Given the description of an element on the screen output the (x, y) to click on. 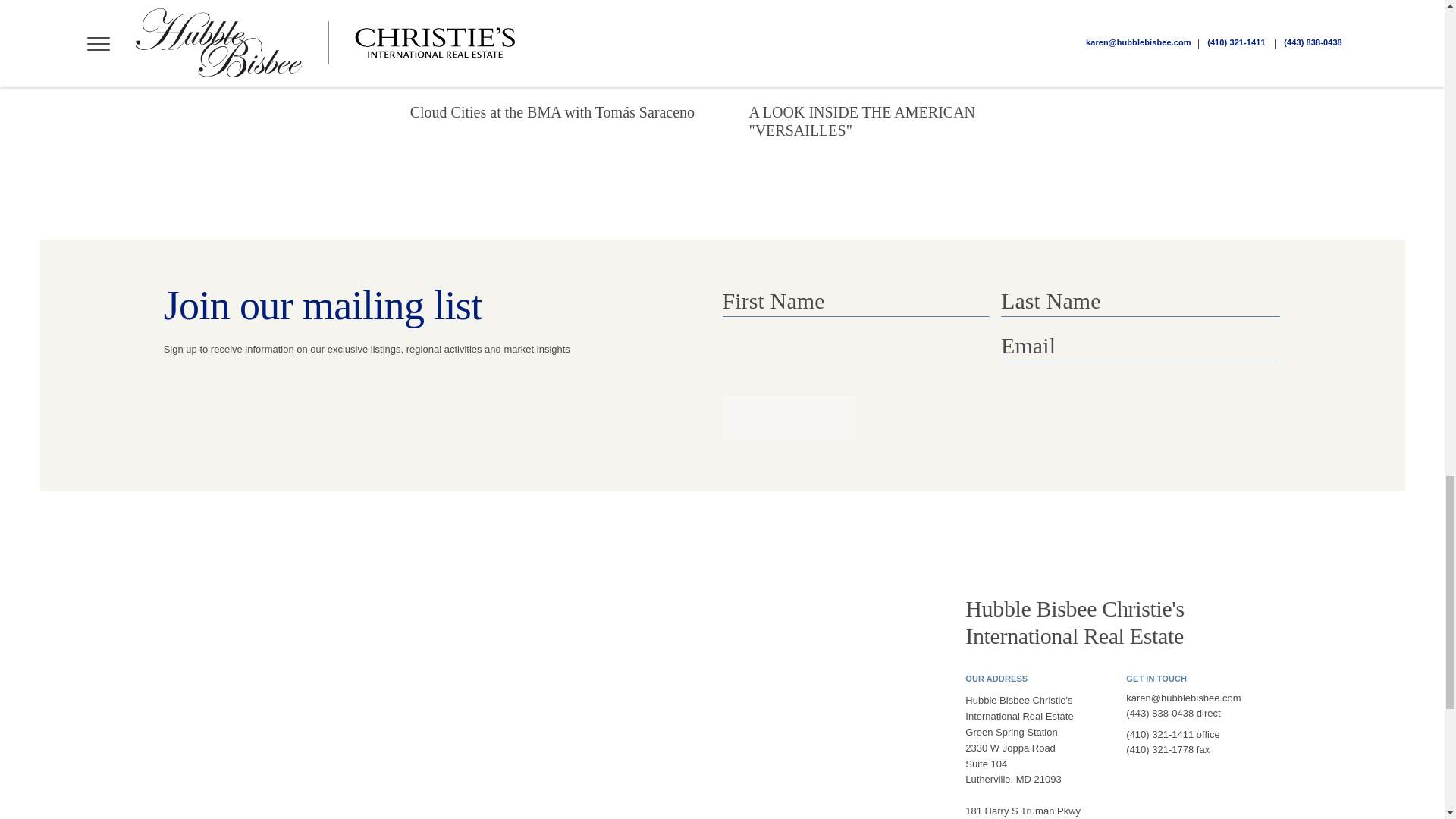
Subscribe (788, 416)
Subscribe (788, 416)
A LOOK INSIDE THE AMERICAN "VERSAILLES" (890, 81)
